Given the description of an element on the screen output the (x, y) to click on. 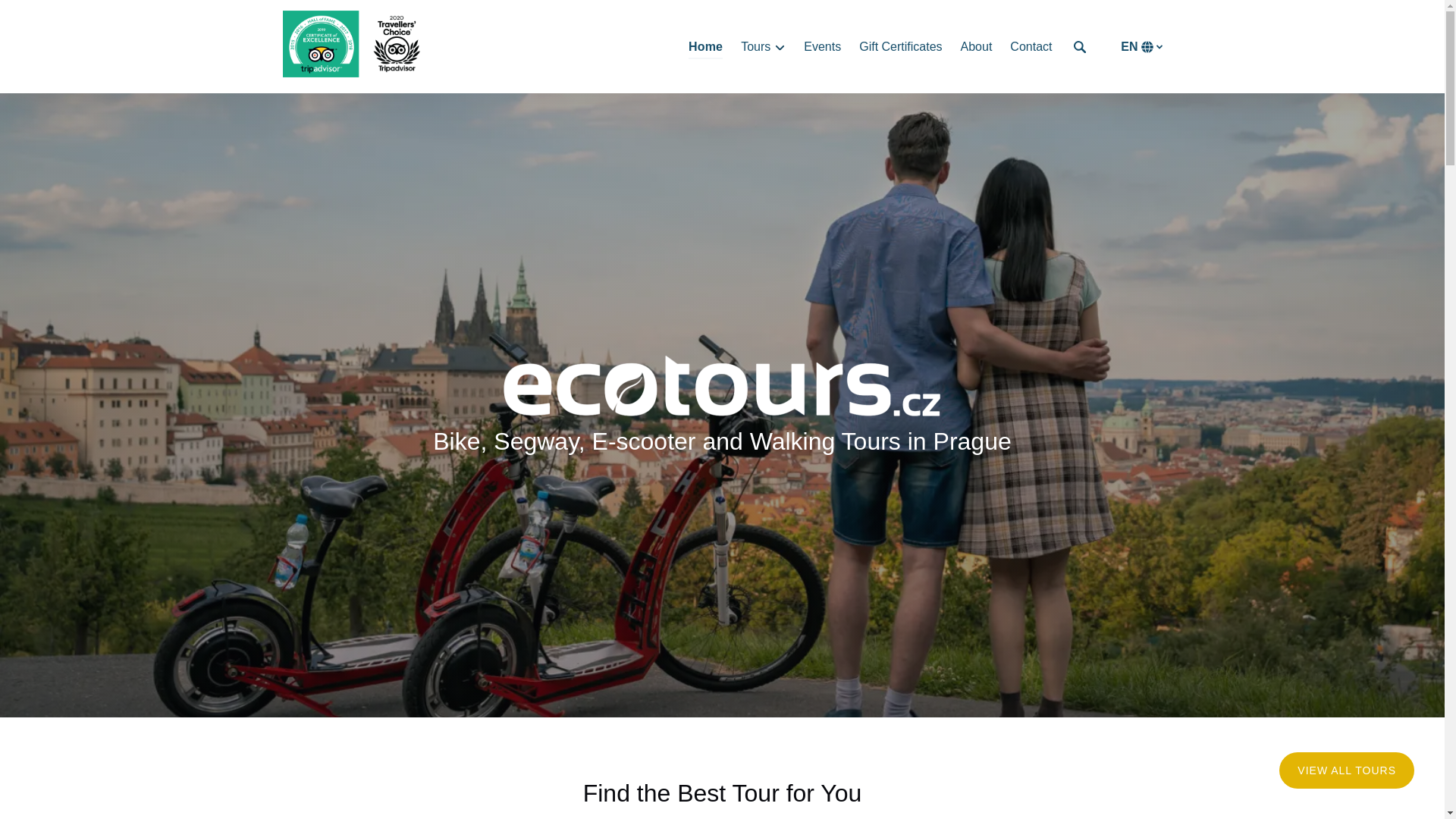
Open Tours Menu (766, 42)
Contact (1031, 46)
Gift Certificates (900, 46)
Skip to primary navigation (77, 16)
About (976, 46)
Home (705, 46)
Skip to footer (42, 16)
Tours (763, 46)
Skip to content (47, 16)
Events (822, 46)
